Given the description of an element on the screen output the (x, y) to click on. 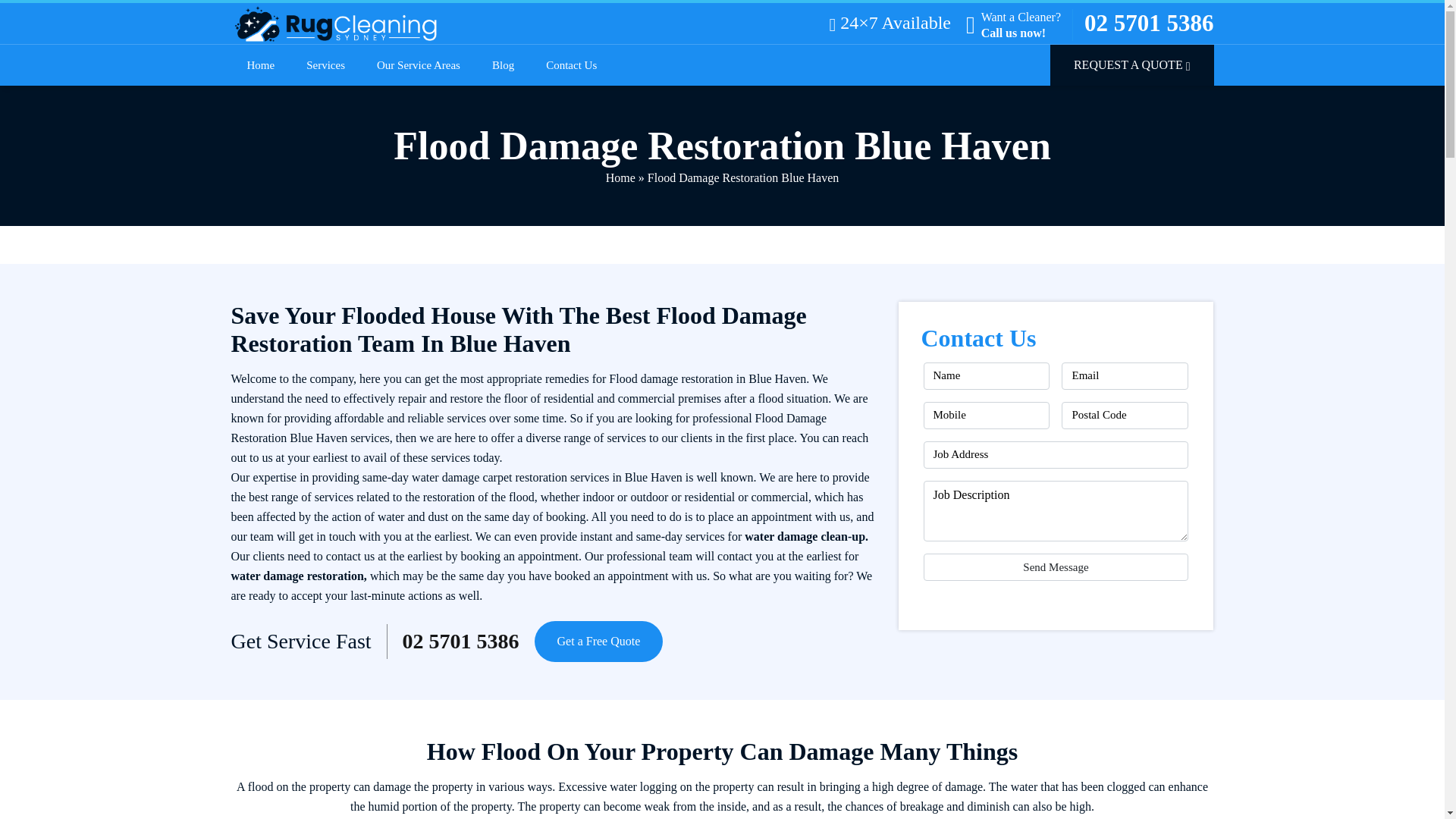
02 5701 5386 (1149, 23)
Send Message (1056, 567)
Blog (503, 64)
Services (325, 64)
Get a Free Quote (598, 640)
02 5701 5386 (461, 641)
Home (260, 64)
Send Message (1056, 567)
REQUEST A QUOTE (1131, 65)
Contact Us (571, 64)
